Given the description of an element on the screen output the (x, y) to click on. 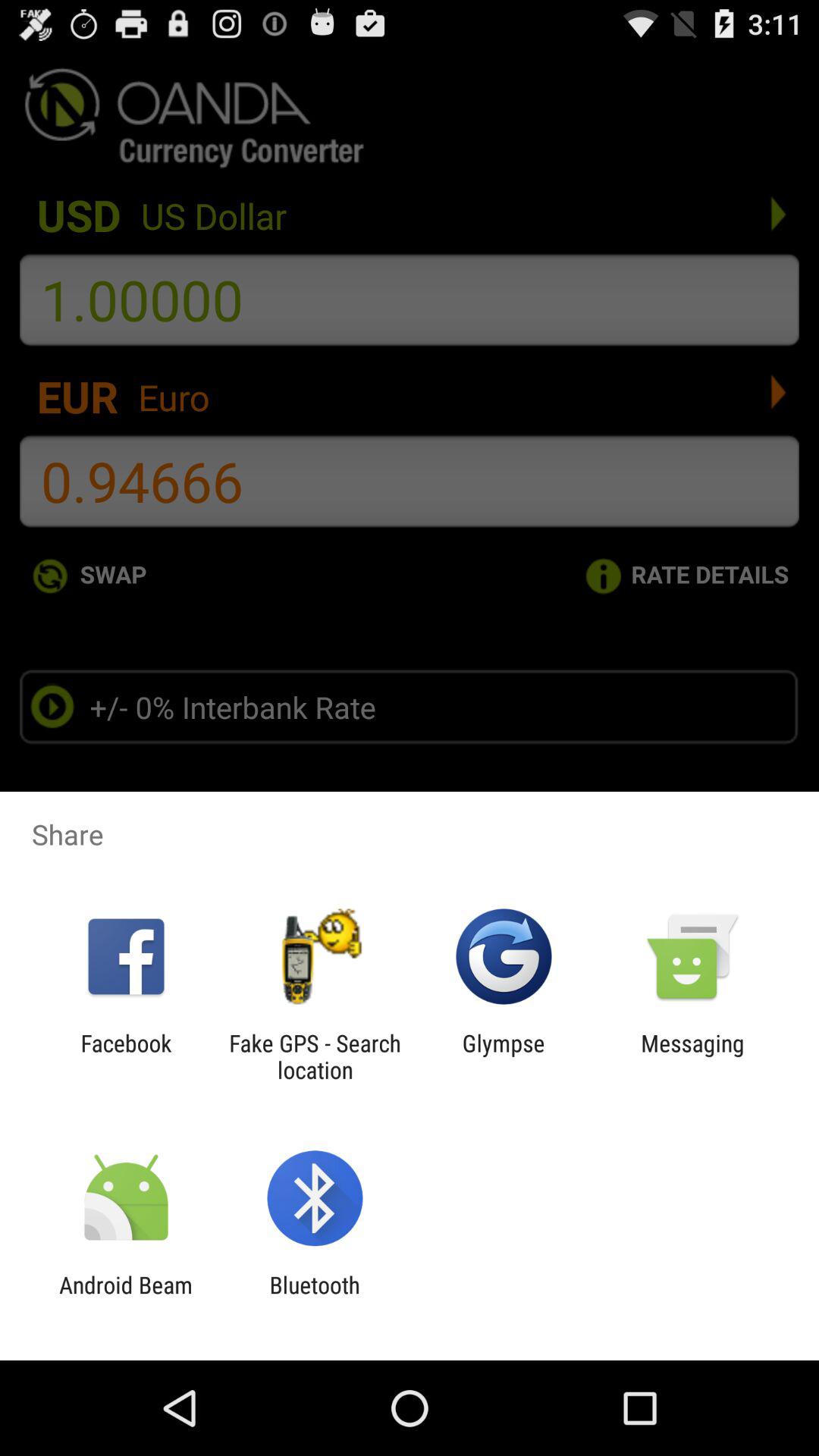
choose item next to the fake gps search app (503, 1056)
